Given the description of an element on the screen output the (x, y) to click on. 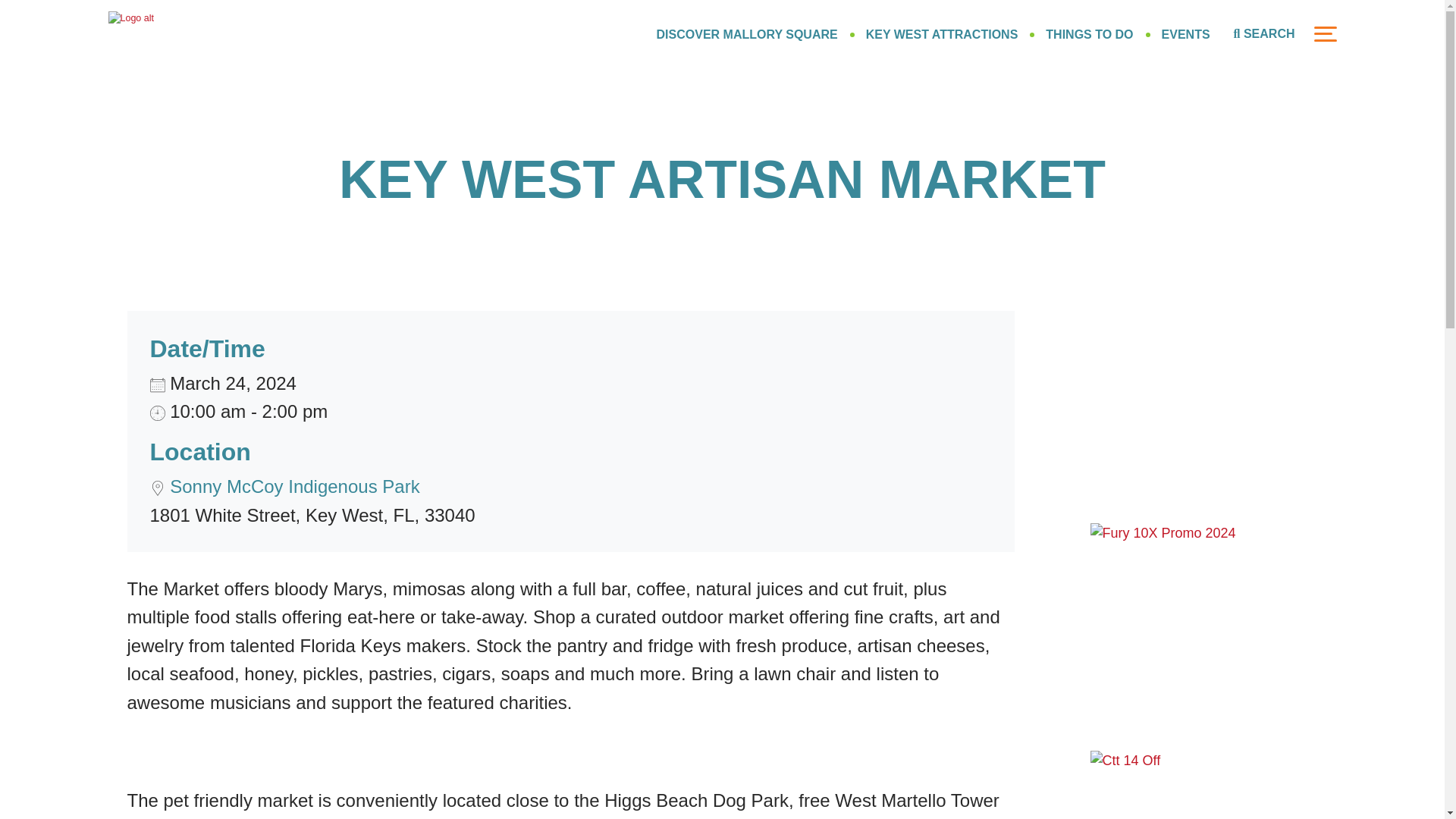
KEY WEST ATTRACTIONS (941, 33)
advertisement iframe (1203, 405)
navbar brand (167, 33)
EVENTS (1185, 33)
DISCOVER MALLORY SQUARE (747, 33)
Ctt 14 Off (1203, 785)
Menu (1324, 33)
SEARCH (1264, 34)
THINGS TO DO (1088, 33)
Fury 10X Promo 2024 (1203, 617)
